Given the description of an element on the screen output the (x, y) to click on. 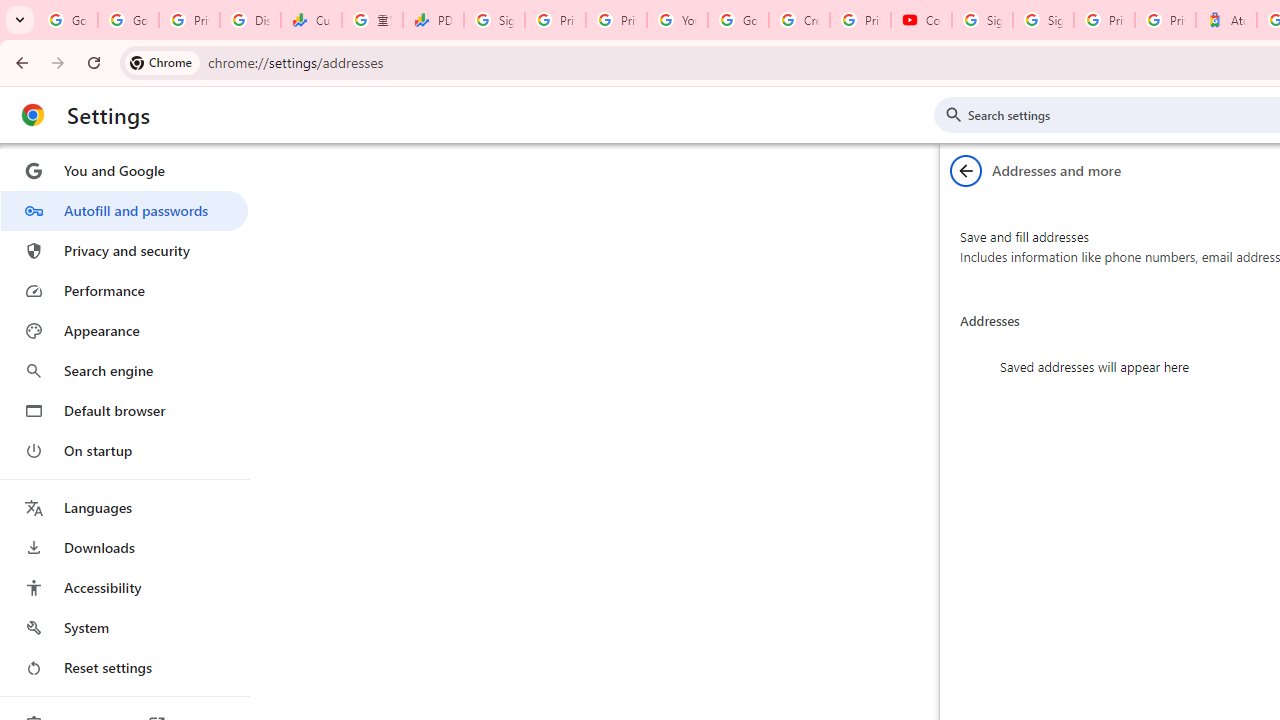
Privacy and security (124, 250)
Currencies - Google Finance (310, 20)
On startup (124, 450)
Google Account Help (738, 20)
Sign in - Google Accounts (982, 20)
YouTube (676, 20)
Performance (124, 290)
Languages (124, 507)
Privacy Checkup (616, 20)
Create your Google Account (799, 20)
